Given the description of an element on the screen output the (x, y) to click on. 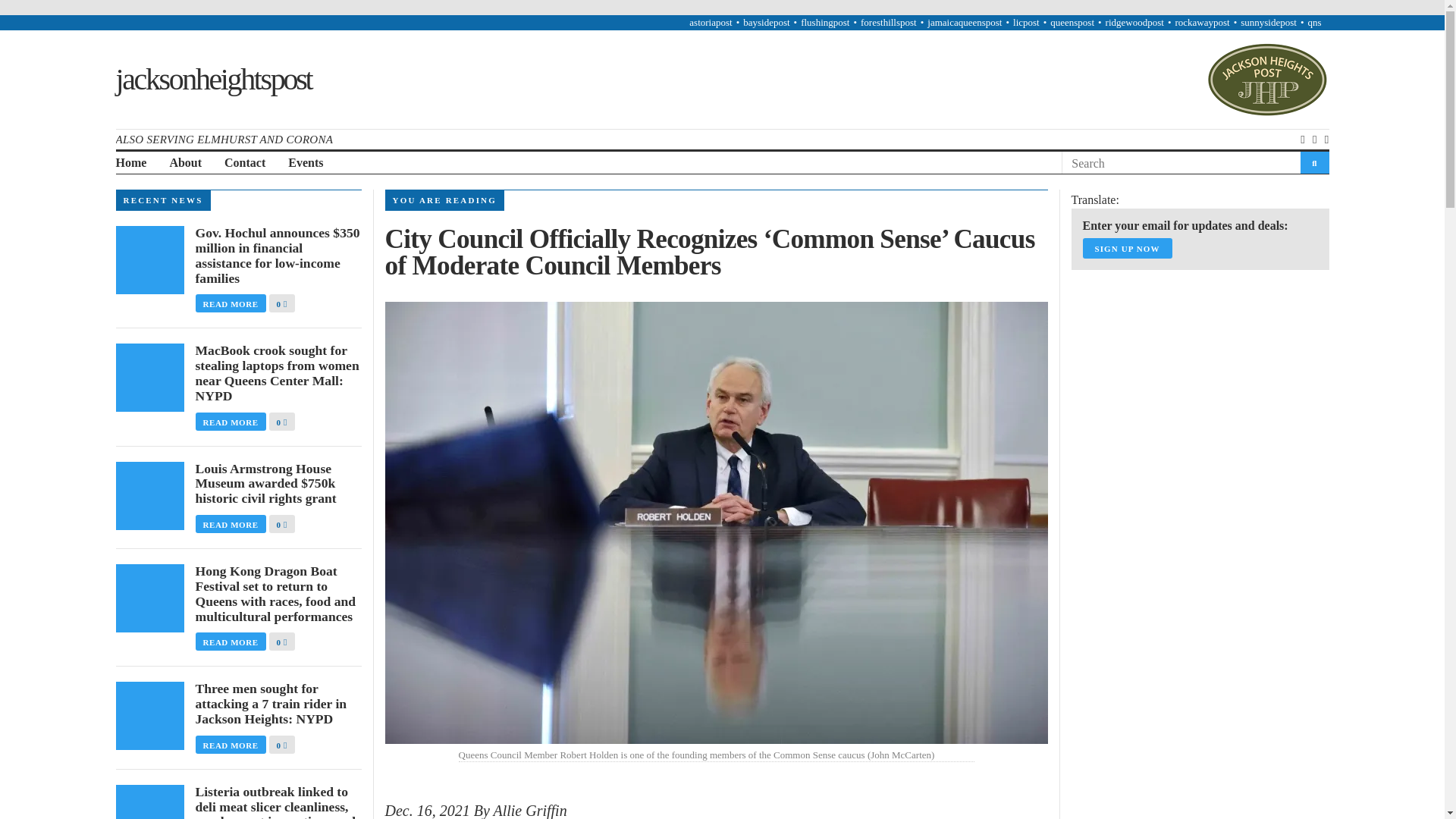
jacksonheightspost (213, 79)
Home (131, 163)
queenspost (1071, 21)
foresthillspost (888, 21)
jamaicaqueenspost (964, 21)
flushingpost (824, 21)
rockawaypost (1201, 21)
ridgewoodpost (1134, 21)
baysidepost (765, 21)
sunnysidepost (1268, 21)
licpost (1026, 21)
astoriapost (710, 21)
About (185, 163)
qns (1313, 21)
Contact (244, 163)
